Given the description of an element on the screen output the (x, y) to click on. 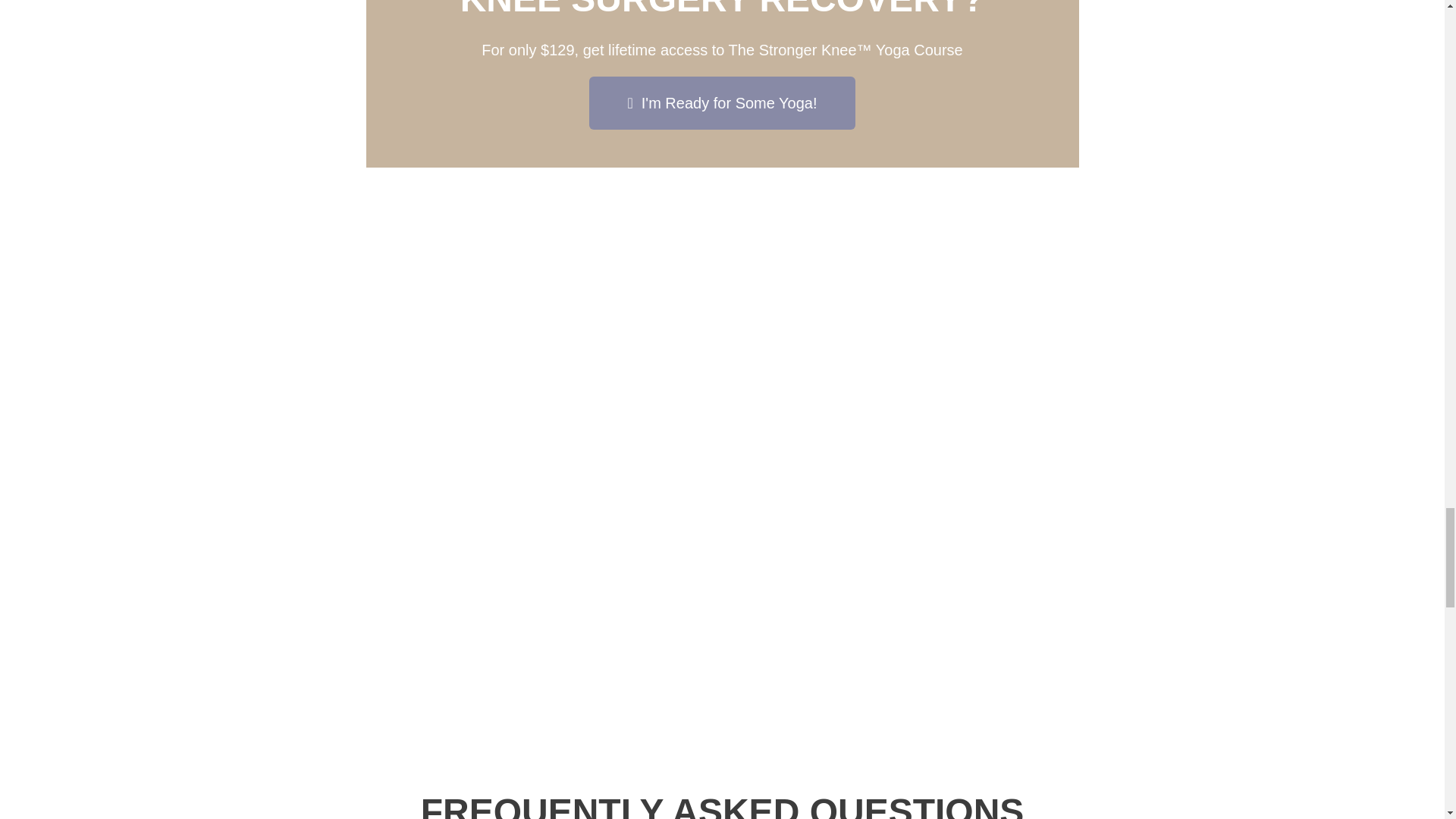
I'm Ready for Some Yoga! (721, 102)
